Given the description of an element on the screen output the (x, y) to click on. 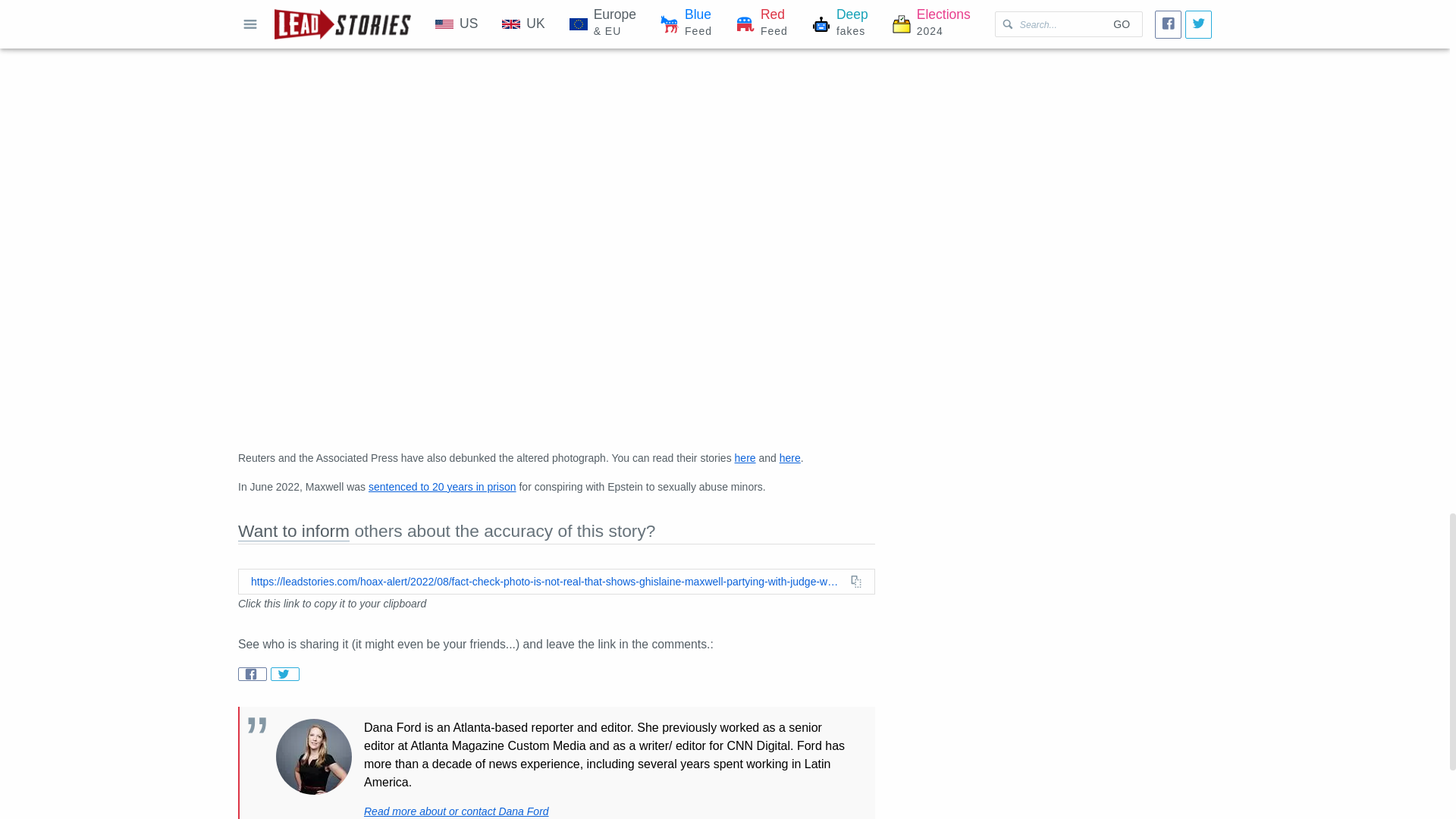
here (789, 458)
sentenced to 20 years in prison (442, 486)
here (745, 458)
Read more about or contact Dana Ford (456, 811)
